Given the description of an element on the screen output the (x, y) to click on. 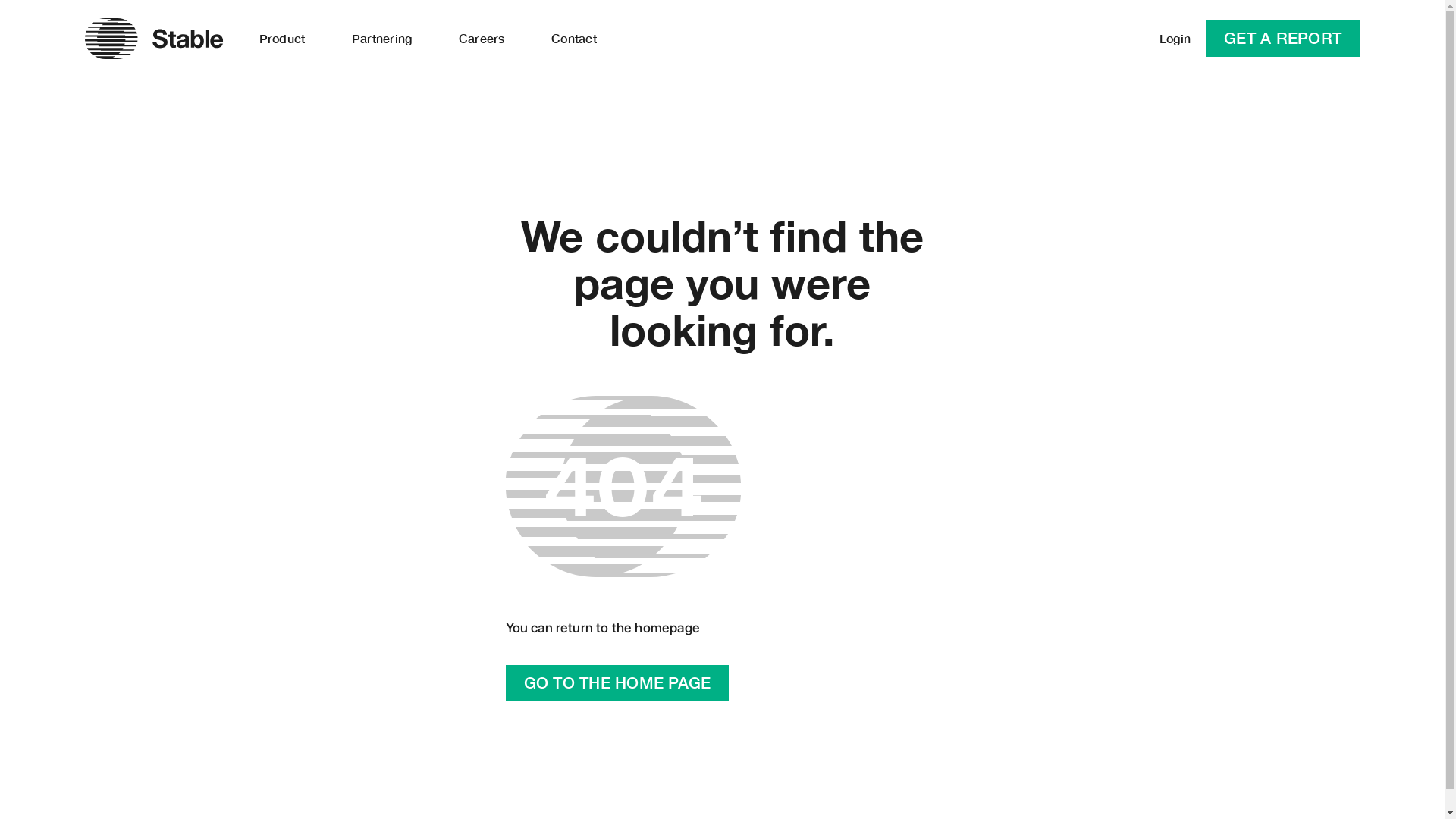
Partnering Element type: text (381, 38)
GO TO THE HOME PAGE Element type: text (616, 683)
GET A REPORT Element type: text (1282, 38)
Contact Element type: text (573, 38)
Login Element type: text (1174, 38)
Careers Element type: text (481, 38)
Product Element type: text (281, 38)
